Given the description of an element on the screen output the (x, y) to click on. 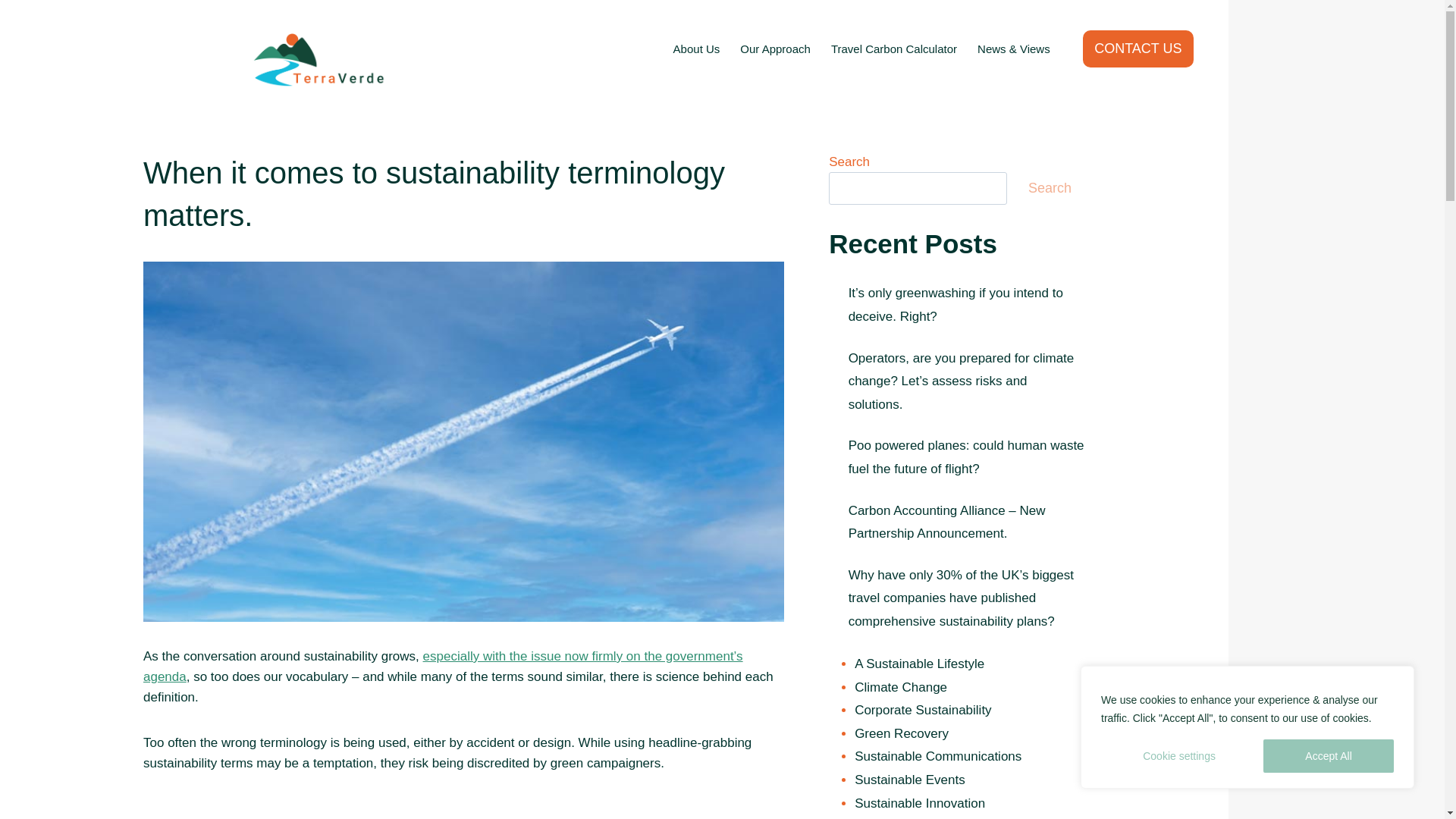
Travel Carbon Calculator (893, 48)
Our Approach (775, 48)
CONTACT US (1137, 48)
